Given the description of an element on the screen output the (x, y) to click on. 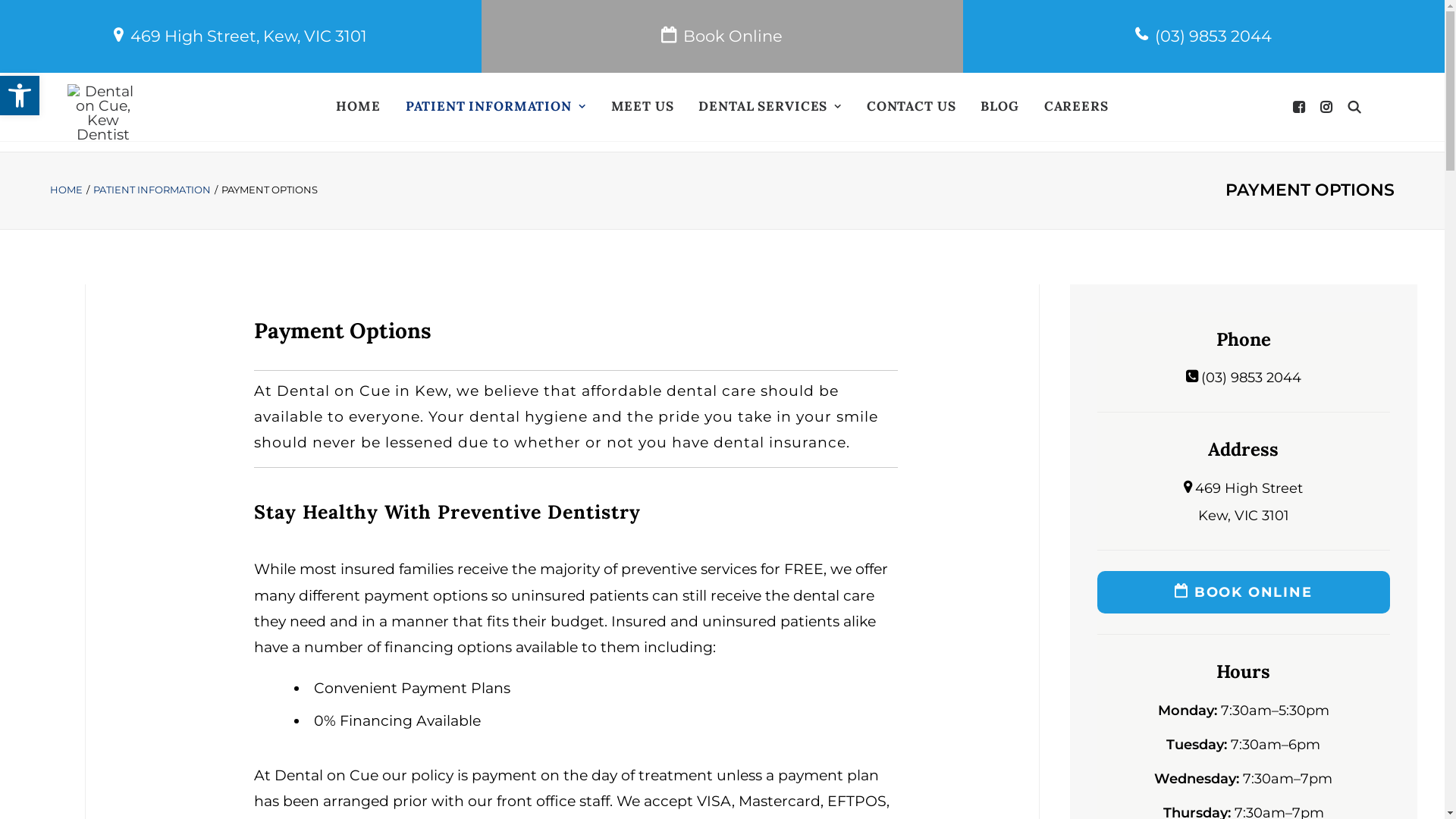
CONTACT US Element type: text (911, 106)
  469 High Street, Kew, VIC 3101 Element type: text (240, 36)
HOME Element type: text (357, 106)
  (03) 9853 2044 Element type: text (1203, 36)
Open toolbar
Accessibility Tools Element type: text (19, 95)
PATIENT INFORMATION Element type: text (151, 189)
PATIENT INFORMATION Element type: text (495, 106)
 BOOK ONLINE Element type: text (1243, 592)
MEET US Element type: text (642, 106)
CAREERS Element type: text (1076, 106)
  Book Online Element type: text (722, 36)
 (03) 9853 2044 Element type: text (1243, 377)
HOME Element type: text (66, 189)
BLOG Element type: text (999, 106)
 469 High Street
Kew, VIC 3101 Element type: text (1242, 502)
DENTAL SERVICES Element type: text (769, 106)
